Given the description of an element on the screen output the (x, y) to click on. 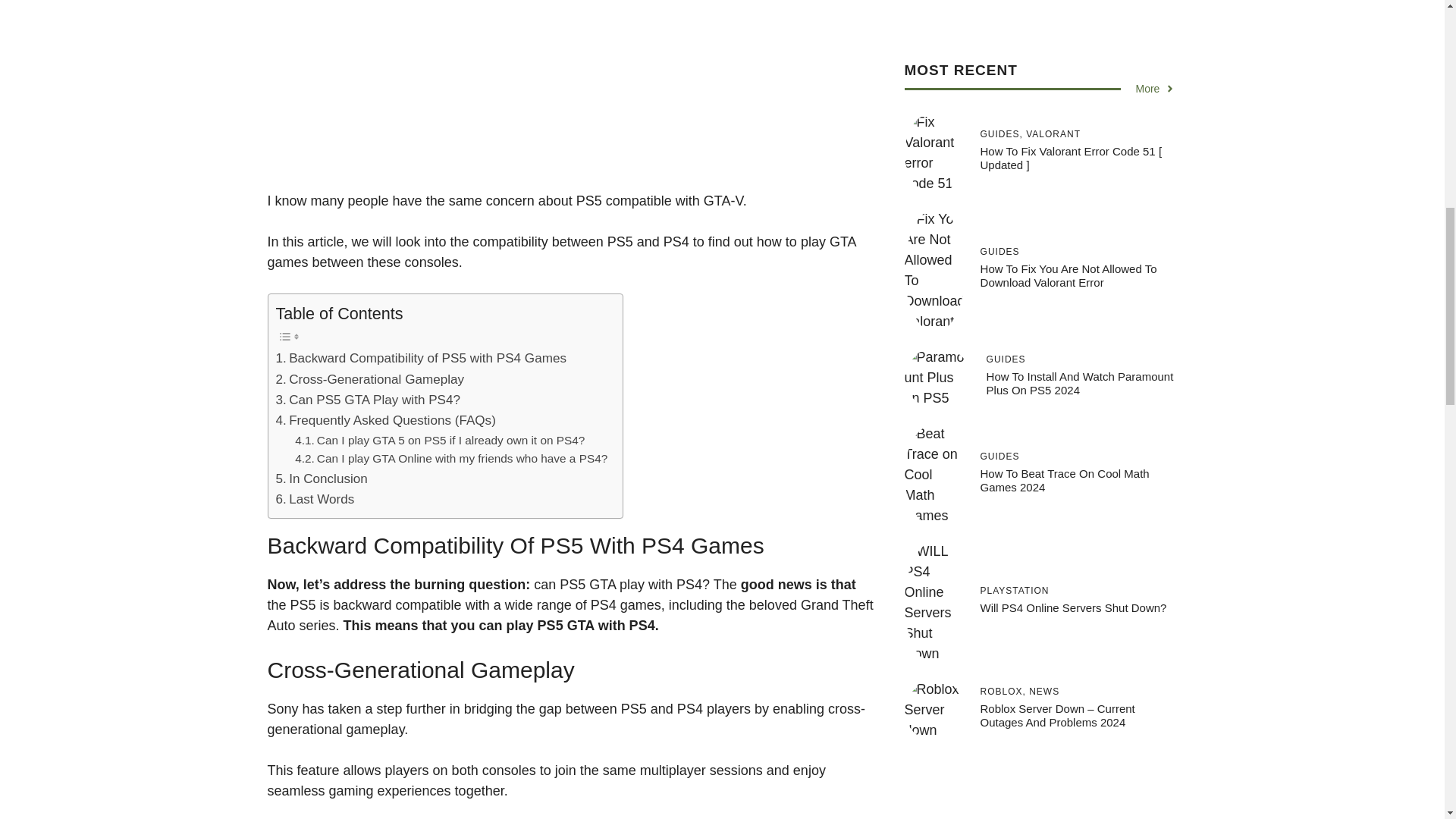
Can I play GTA 5 on PS5 if I already own it on PS4? (440, 440)
Can I play GTA 5 on PS5 if I already own it on PS4? (440, 440)
In Conclusion (322, 478)
Can PS5 GTA Play with PS4? (368, 399)
Last Words (315, 498)
Cross-Generational Gameplay (370, 379)
Can PS5 GTA Play with PS4? (368, 399)
Cross-Generational Gameplay (370, 379)
Backward Compatibility of PS5 with PS4 Games (421, 358)
Backward Compatibility of PS5 with PS4 Games (421, 358)
